Given the description of an element on the screen output the (x, y) to click on. 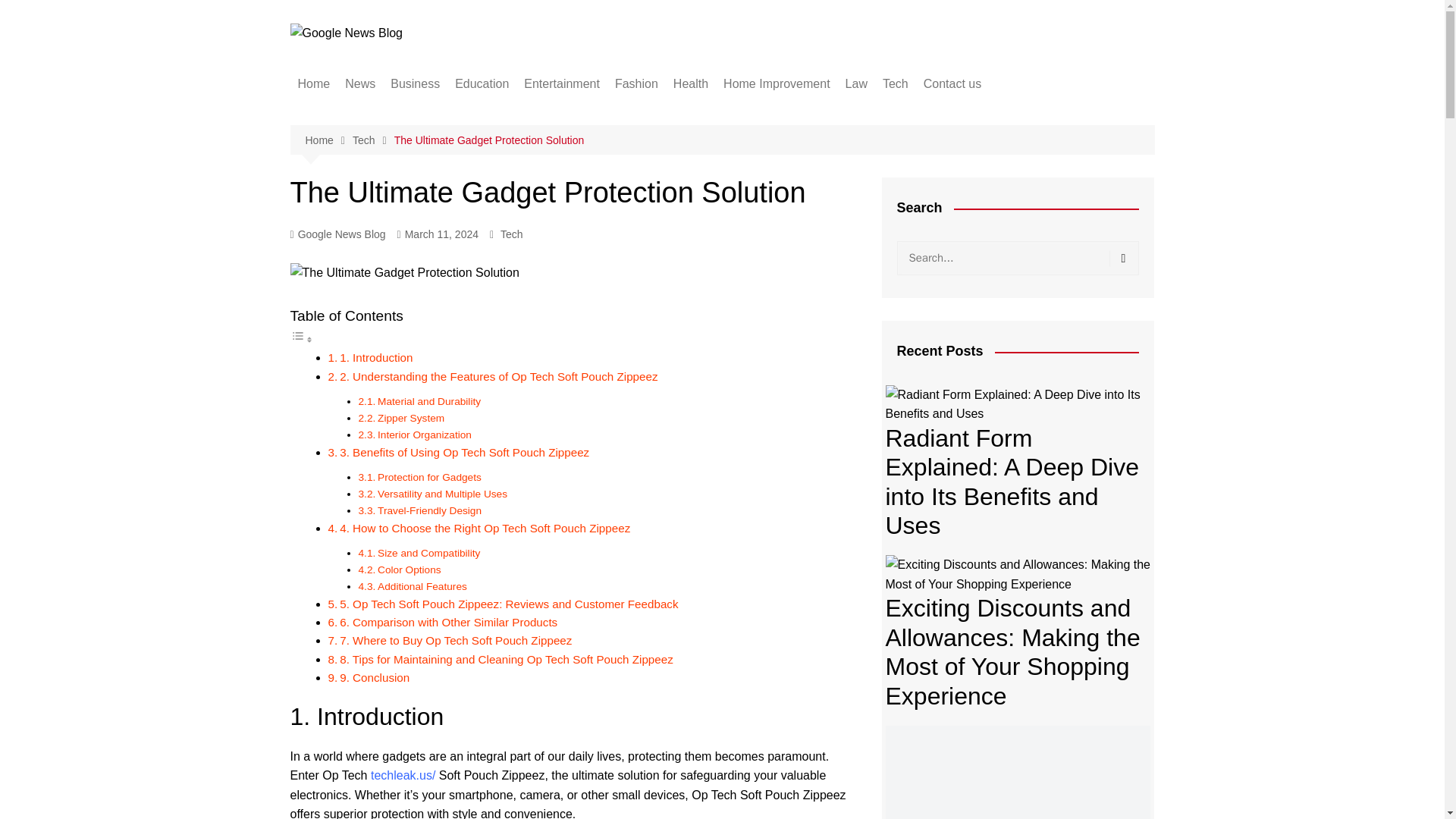
Entertainment (561, 84)
2. Understanding the Features of Op Tech Soft Pouch Zippeez (498, 376)
Additional Features (422, 586)
News World (420, 139)
4. How to Choose the Right Op Tech Soft Pouch Zippeez (484, 527)
Google News Blog (337, 234)
Zipper System (410, 418)
News (359, 84)
1. Introduction (375, 357)
The Ultimate Gadget Protection Solution (489, 139)
Home (328, 140)
News Story (420, 189)
2. Understanding the Features of Op Tech Soft Pouch Zippeez (498, 376)
Material and Durability (428, 401)
Home Improvement (777, 84)
